Given the description of an element on the screen output the (x, y) to click on. 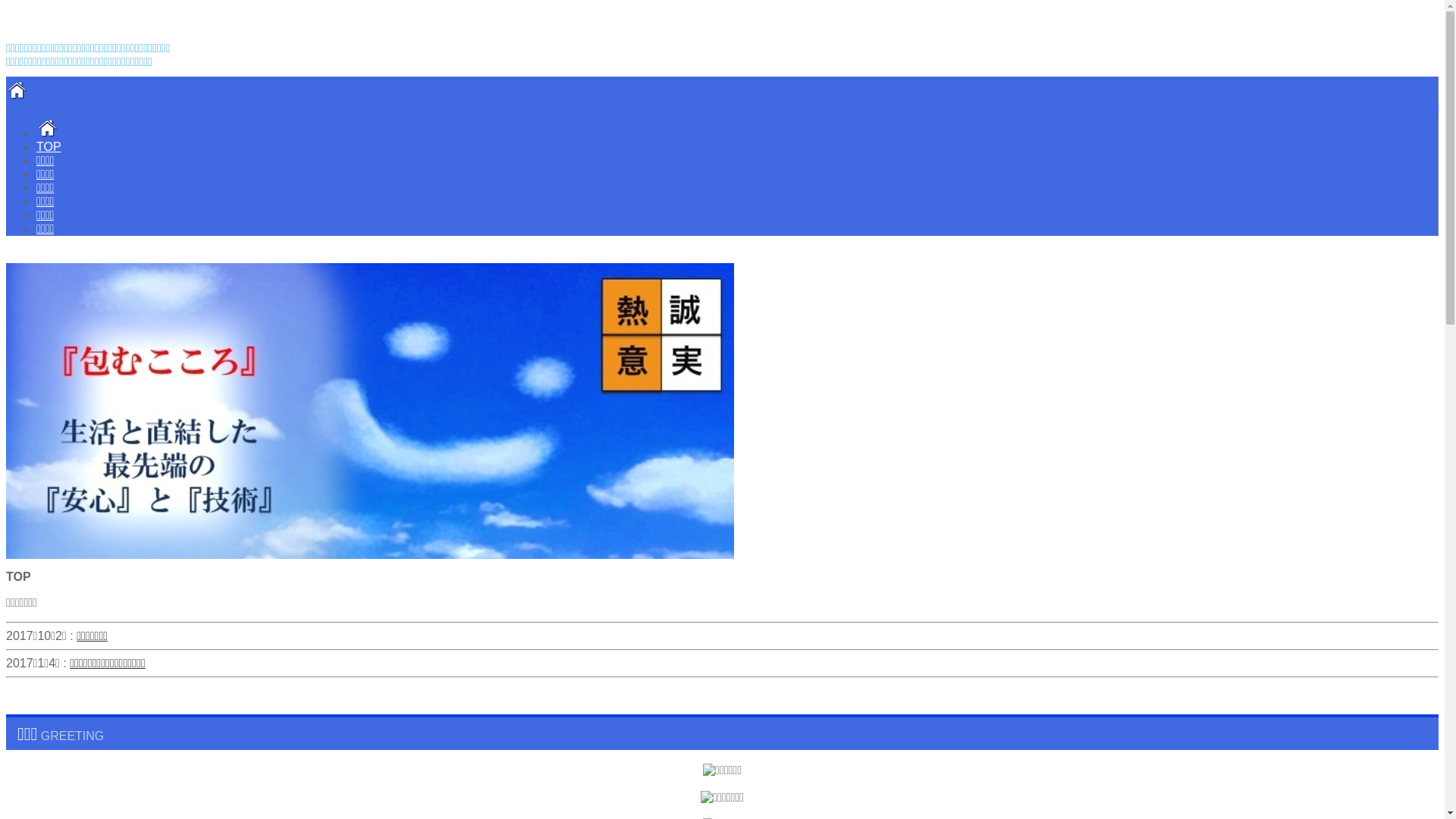
TOP Element type: text (737, 146)
